Given the description of an element on the screen output the (x, y) to click on. 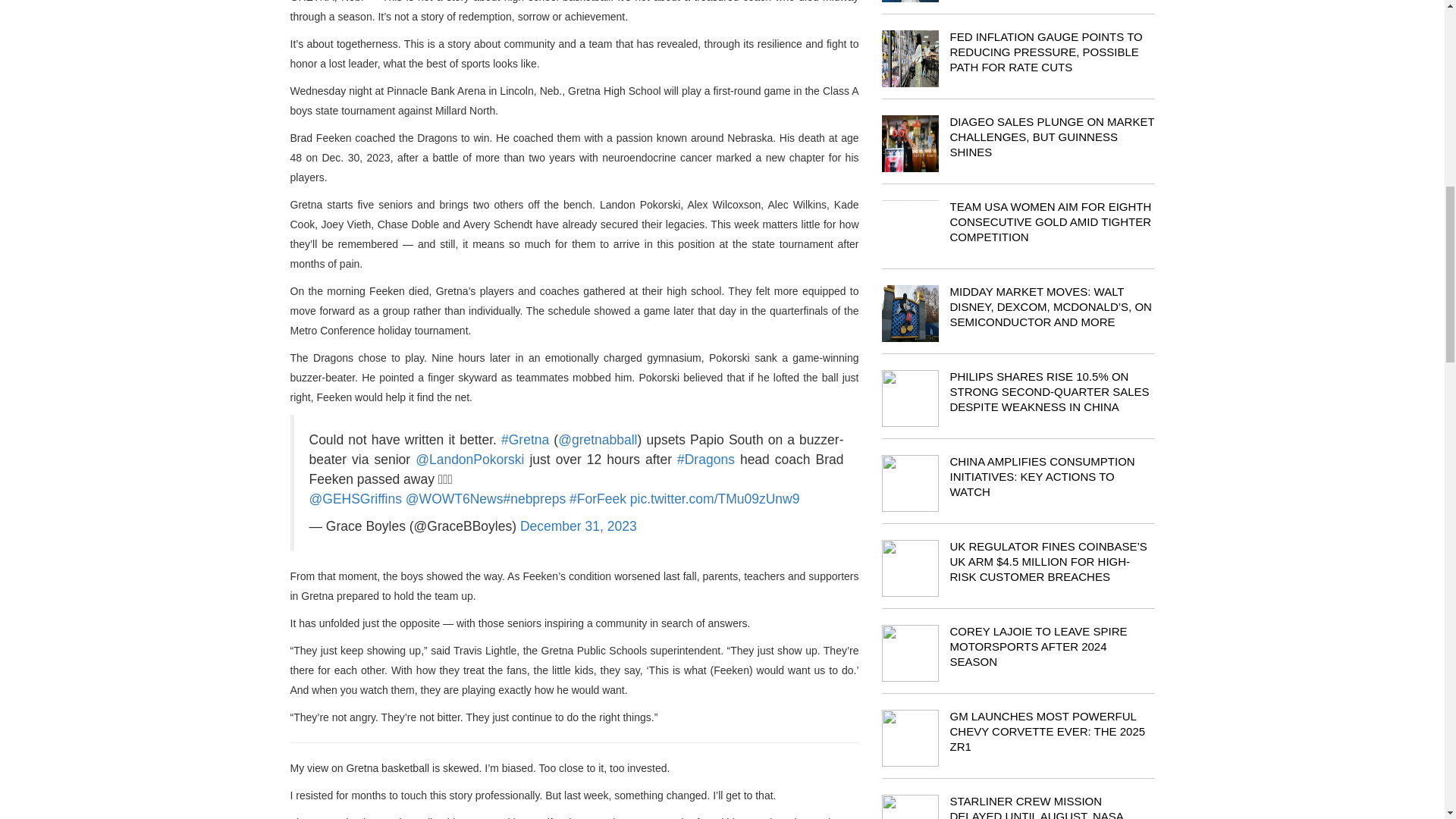
STARLINER CREW MISSION DELAYED UNTIL AUGUST, NASA SAYS (1035, 807)
GM LAUNCHES MOST POWERFUL CHEVY CORVETTE EVER: THE 2025 ZR1 (1046, 731)
COREY LAJOIE TO LEAVE SPIRE MOTORSPORTS AFTER 2024 SEASON (1037, 646)
December 31, 2023 (578, 525)
